Given the description of an element on the screen output the (x, y) to click on. 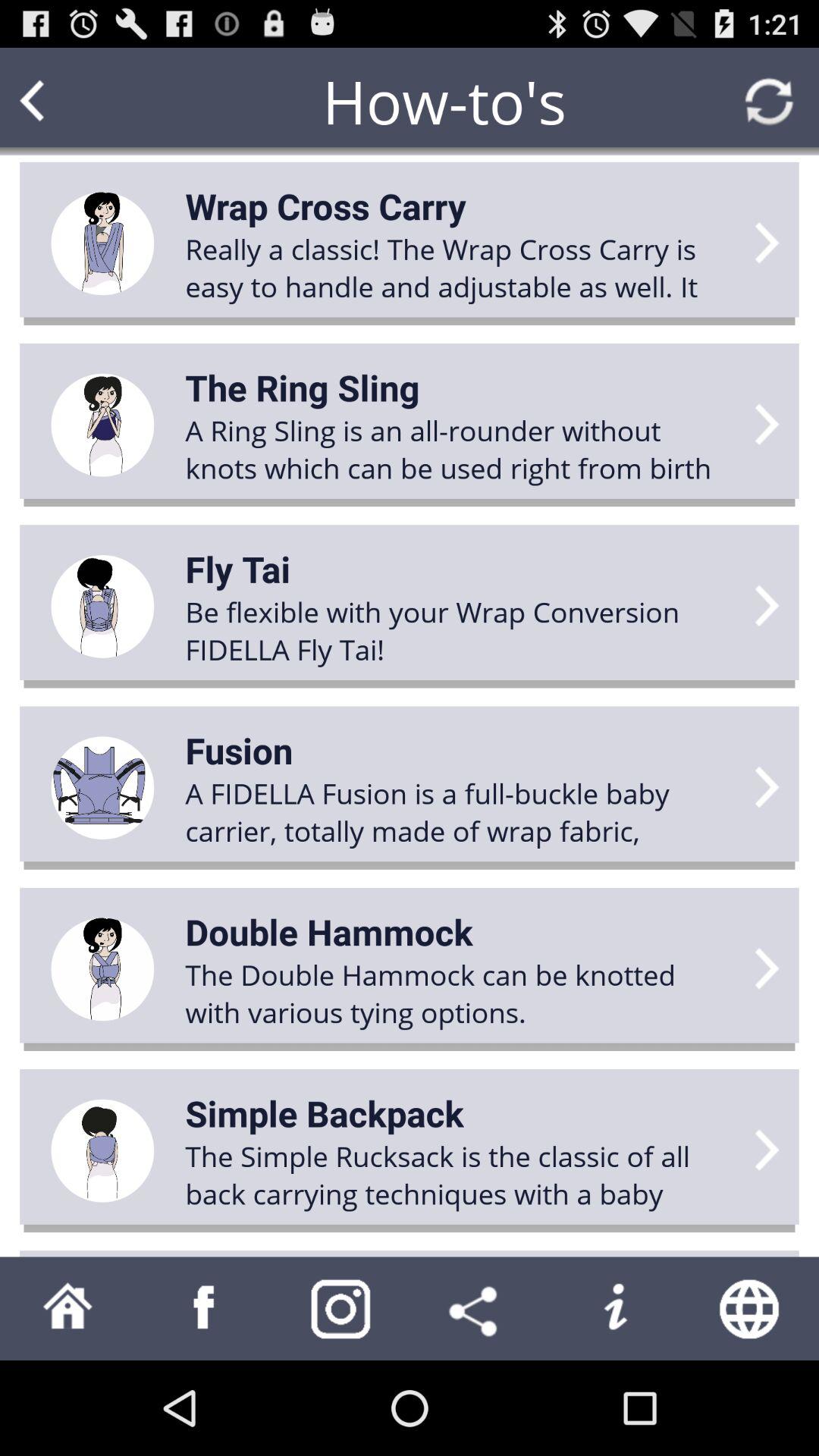
click the icon above the double hammock (460, 811)
